Given the description of an element on the screen output the (x, y) to click on. 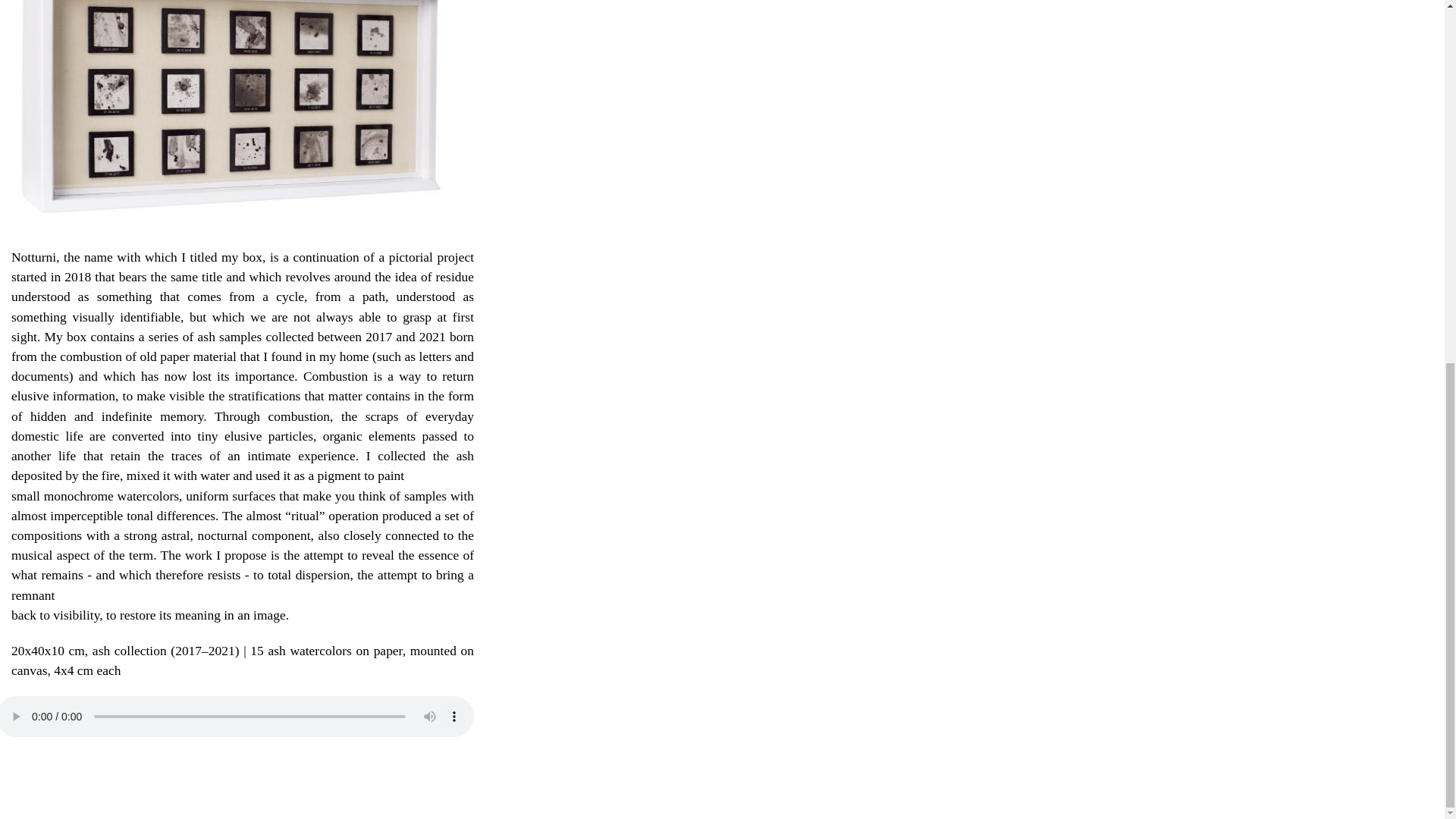
Notturni 2 (231, 112)
Notturni 2 (231, 234)
